Given the description of an element on the screen output the (x, y) to click on. 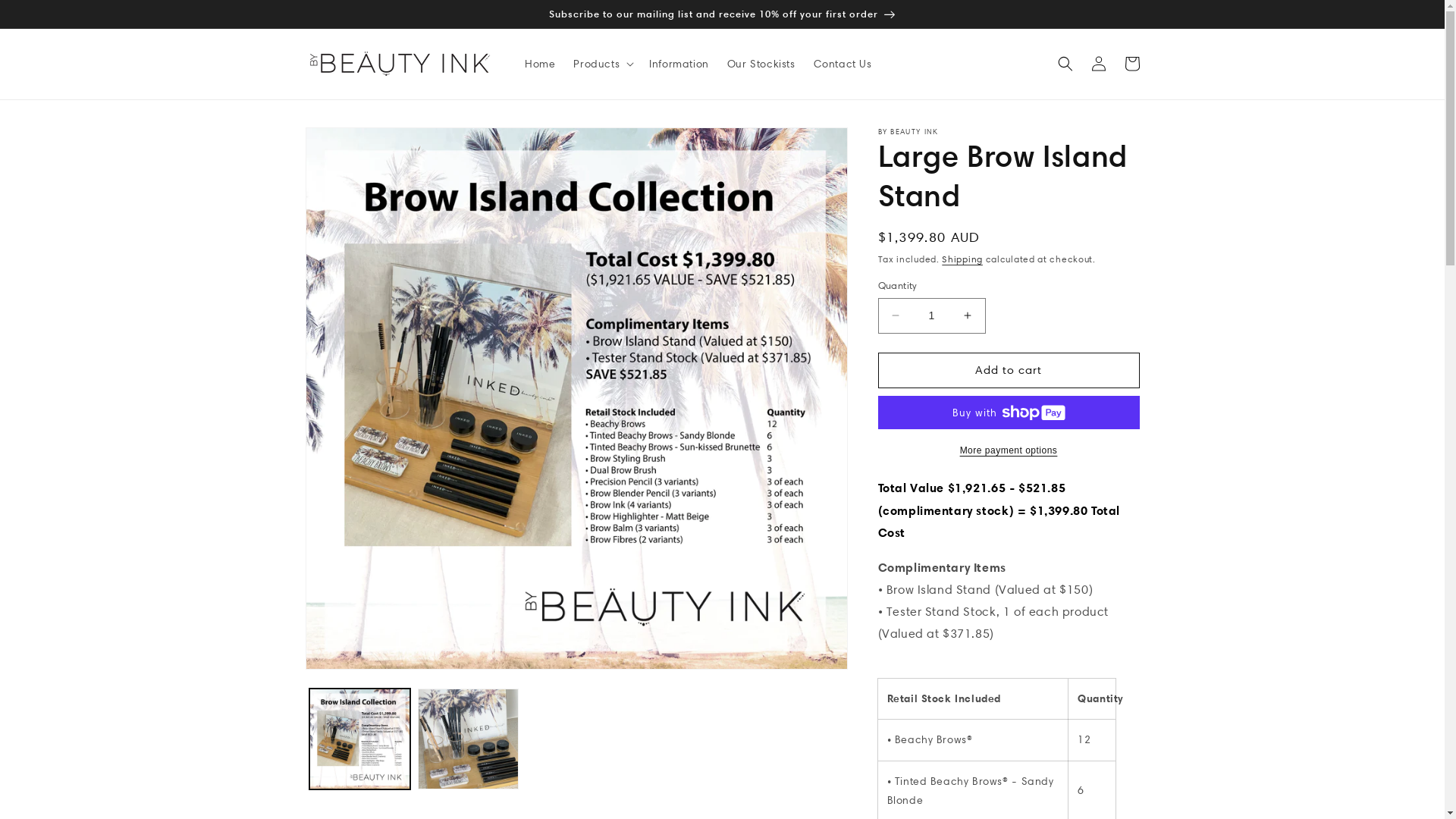
Shipping Element type: text (961, 258)
Home Element type: text (539, 63)
More payment options Element type: text (1008, 450)
Log in Element type: text (1097, 63)
Cart Element type: text (1131, 63)
Increase quantity for Large Brow Island Stand Element type: text (967, 315)
Decrease quantity for Large Brow Island Stand Element type: text (895, 315)
Our Stockists Element type: text (761, 63)
Skip to product information Element type: text (350, 144)
Information Element type: text (679, 63)
Add to cart Element type: text (1008, 370)
Contact Us Element type: text (842, 63)
